Given the description of an element on the screen output the (x, y) to click on. 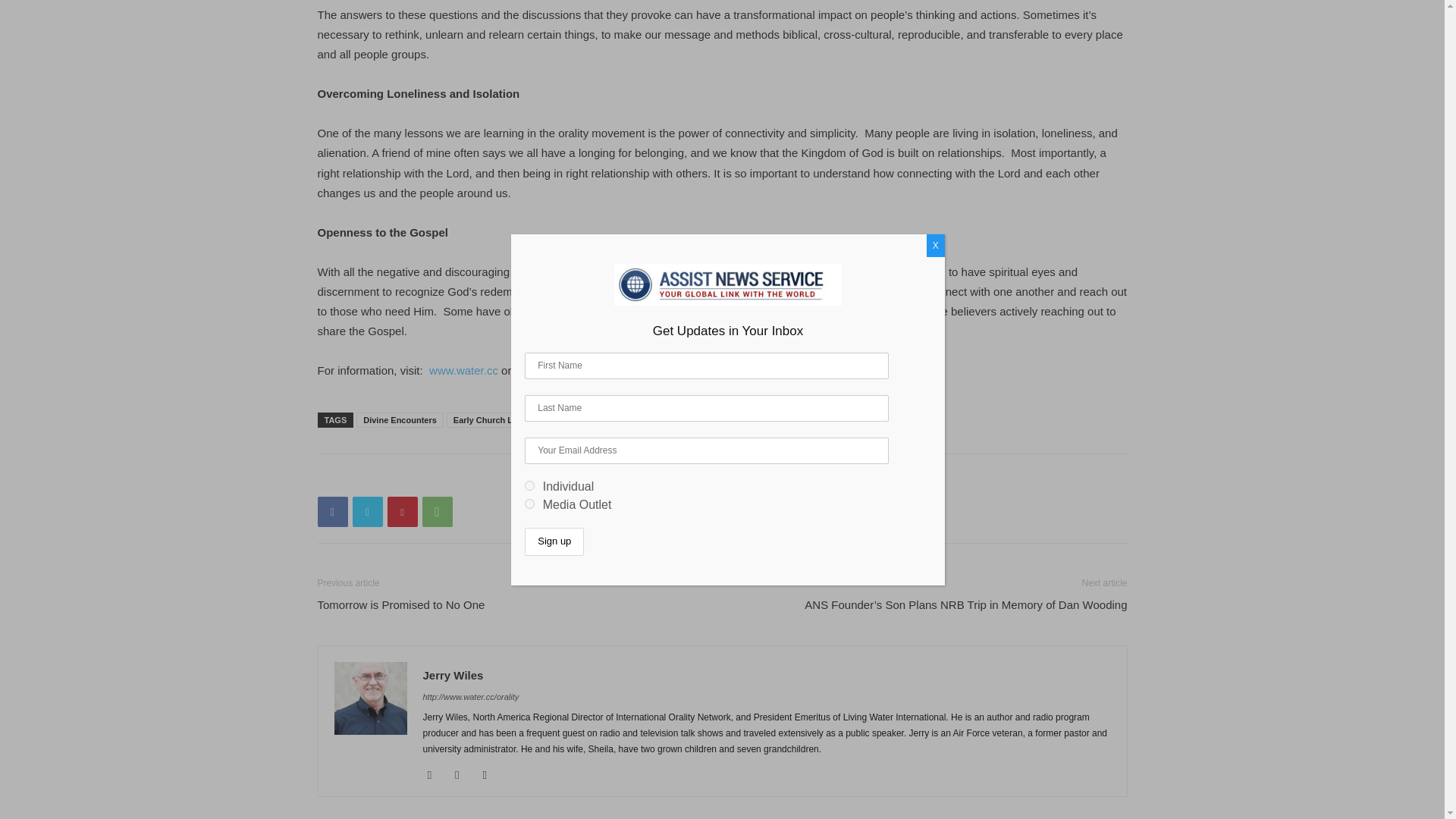
Twitter (366, 511)
Facebook (332, 511)
